Given the description of an element on the screen output the (x, y) to click on. 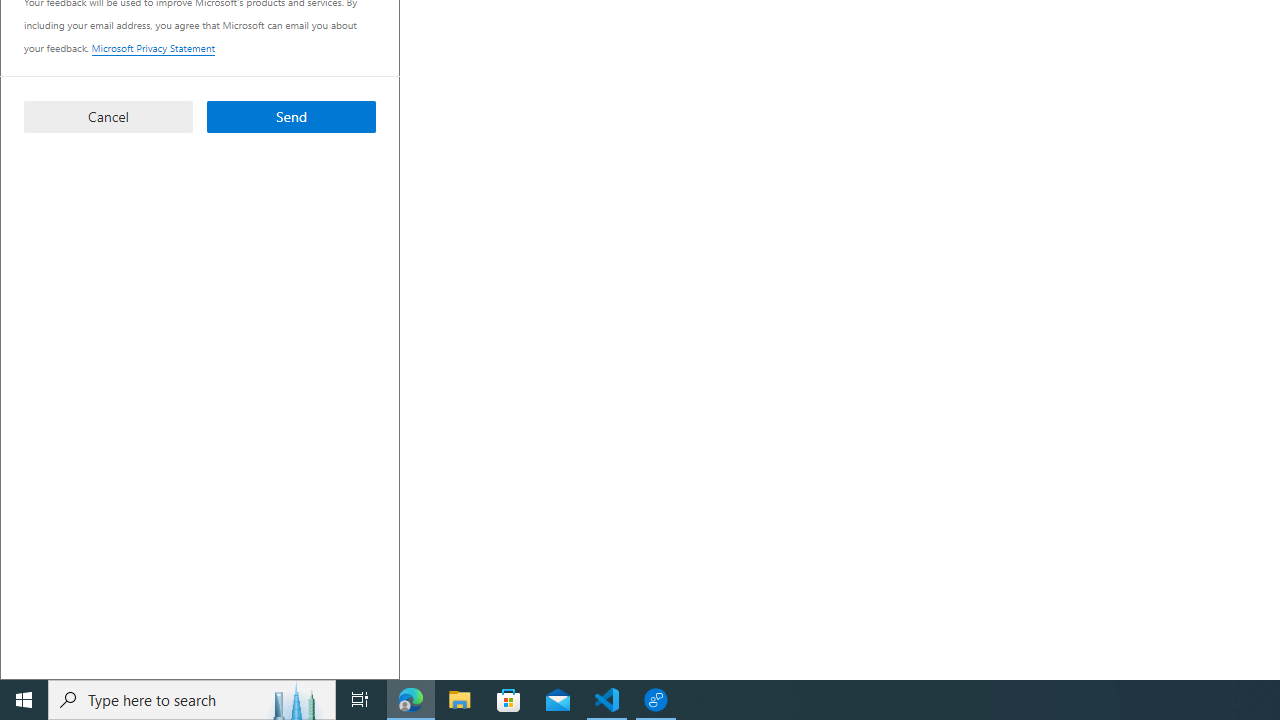
Collection of data from children (696, 174)
